Given the description of an element on the screen output the (x, y) to click on. 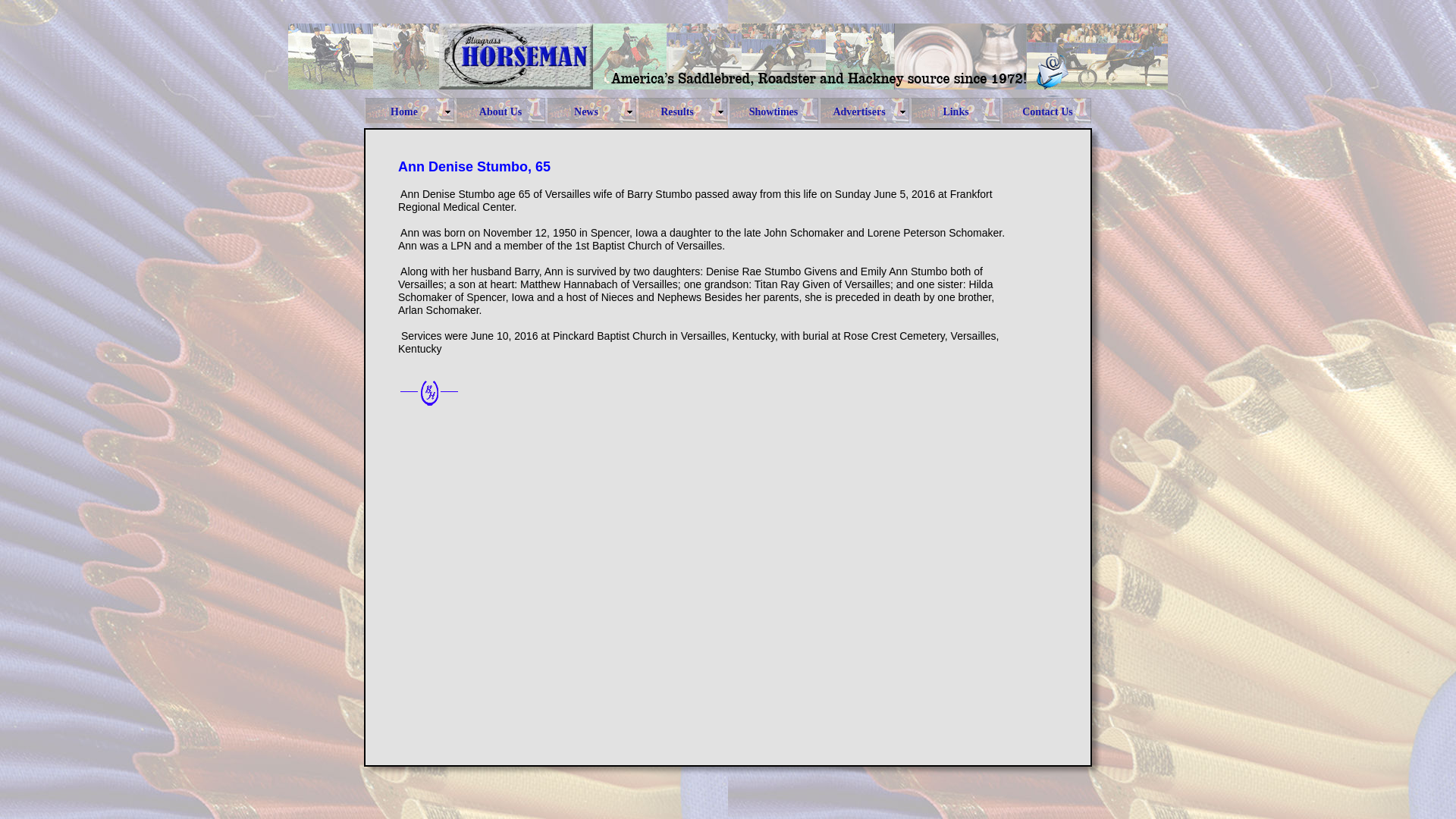
About Us (499, 112)
News (591, 112)
Home (409, 112)
